Given the description of an element on the screen output the (x, y) to click on. 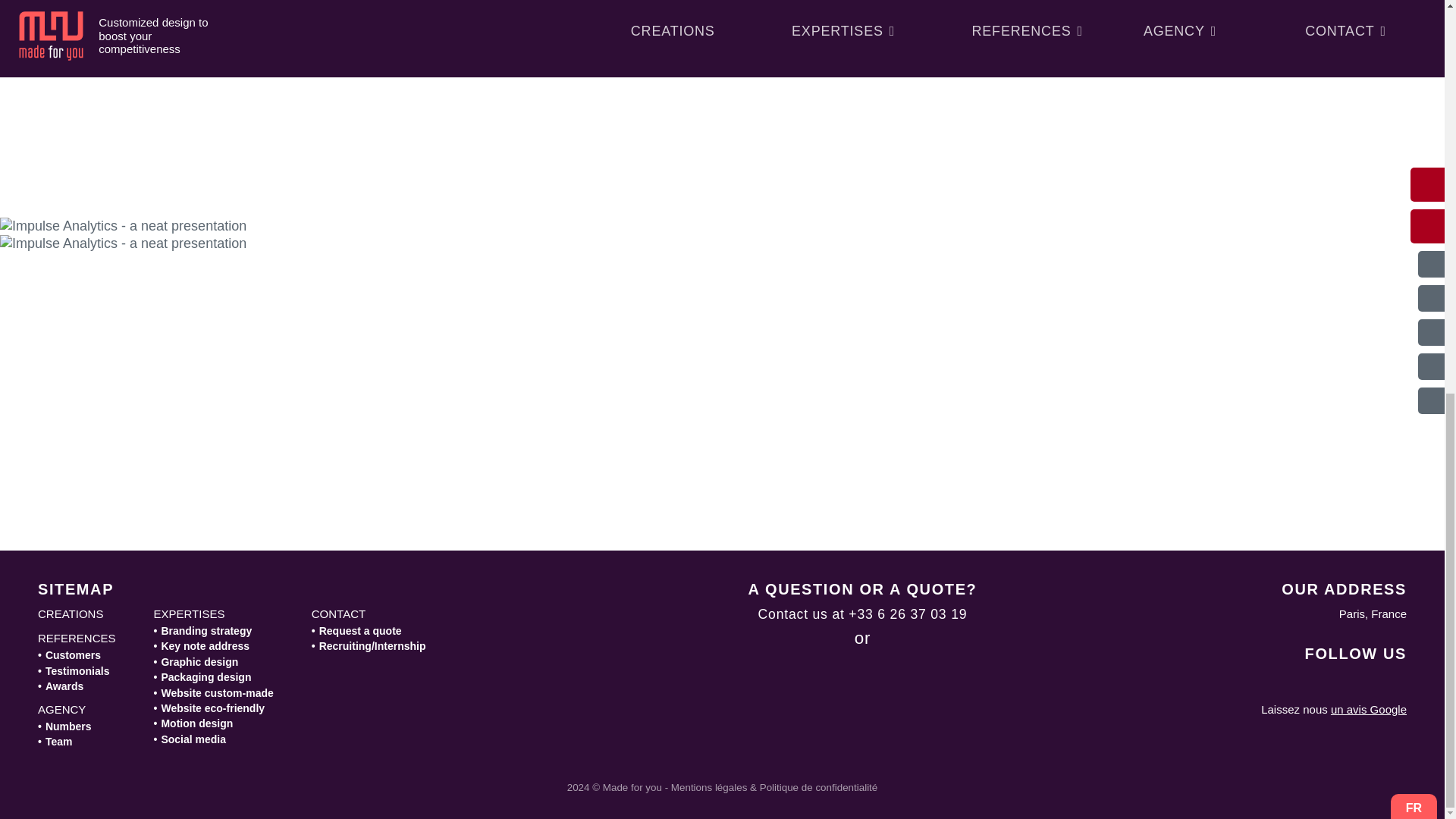
Linkedin-in (1276, 682)
CREATIONS (70, 614)
FR (1414, 53)
Twitter (1352, 682)
Instagram (1314, 682)
Facebook-f (1240, 682)
REFERENCES (76, 638)
Customers (68, 654)
Youtube (1389, 682)
